Given the description of an element on the screen output the (x, y) to click on. 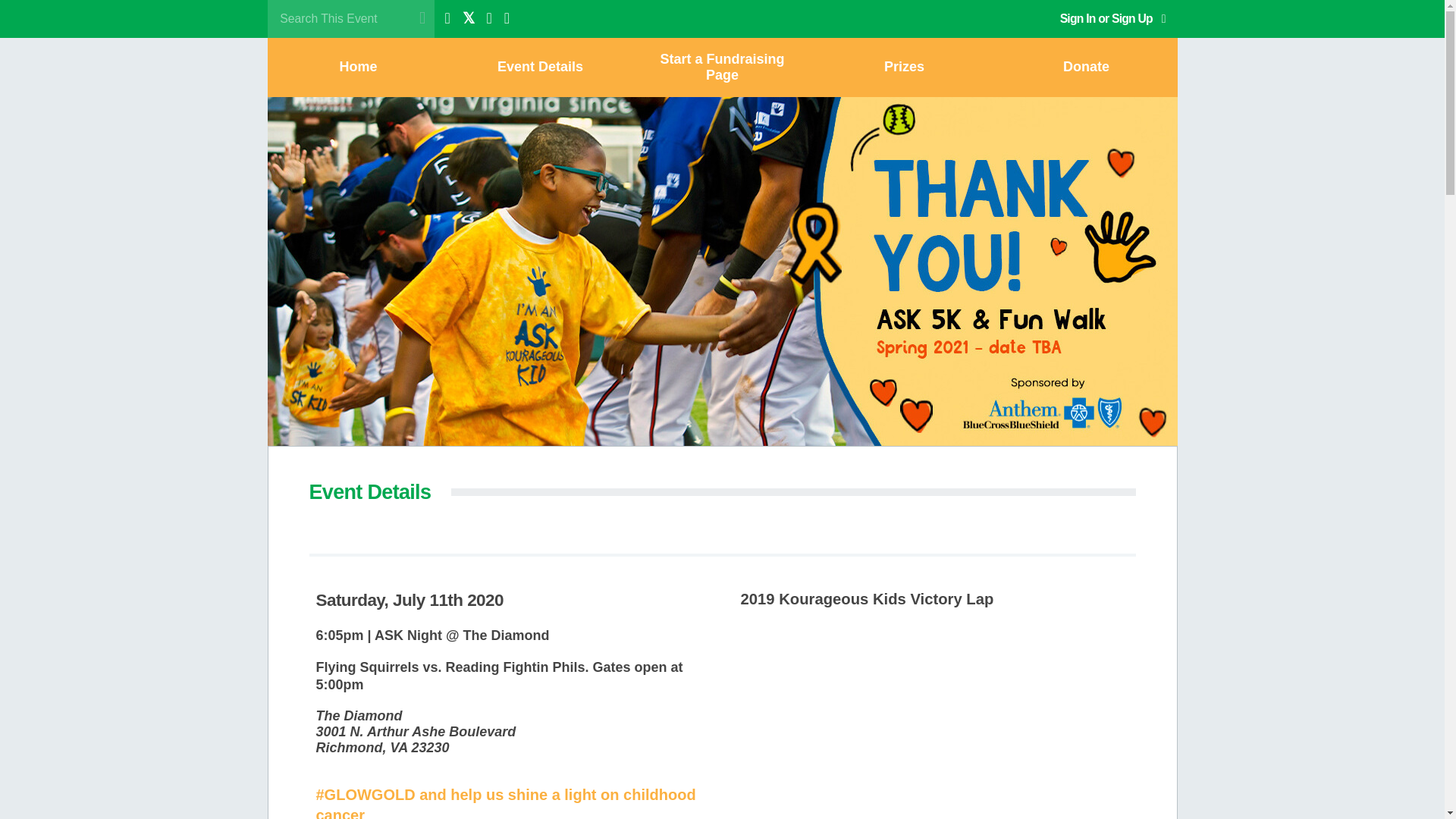
Start a Fundraising Page (721, 67)
Event Details (539, 66)
Home (357, 66)
Donate (1085, 66)
Sign In or Sign Up (1112, 18)
Prizes (903, 66)
